Given the description of an element on the screen output the (x, y) to click on. 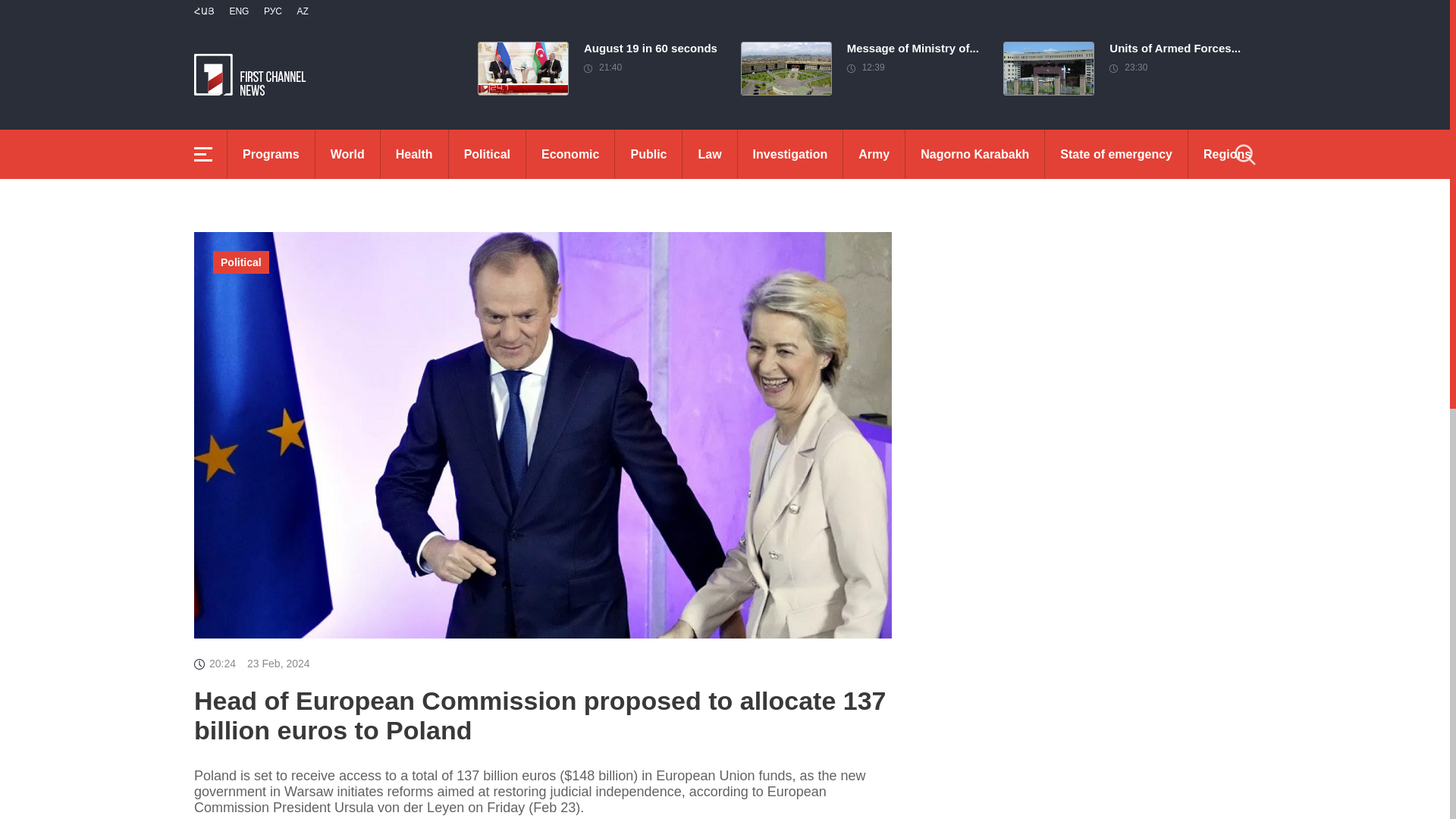
Regions (1227, 154)
Law (709, 154)
Investigation (790, 154)
Political (486, 154)
Political (240, 261)
Economic (861, 63)
World (569, 154)
AZ (347, 154)
Army (302, 11)
